Given the description of an element on the screen output the (x, y) to click on. 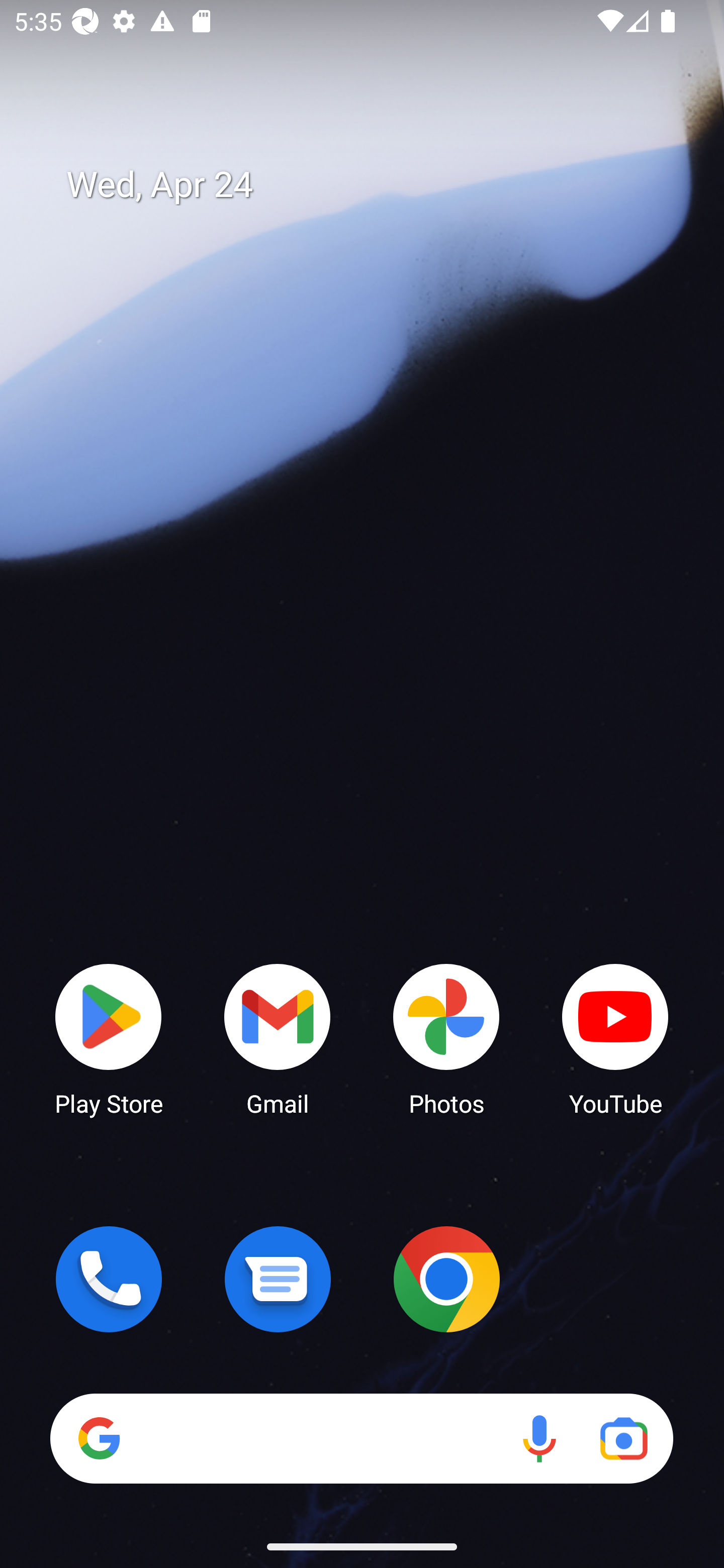
Wed, Apr 24 (375, 184)
Play Store (108, 1038)
Gmail (277, 1038)
Photos (445, 1038)
YouTube (615, 1038)
Phone (108, 1279)
Messages (277, 1279)
Chrome (446, 1279)
Search Voice search Google Lens (361, 1438)
Voice search (539, 1438)
Google Lens (623, 1438)
